Given the description of an element on the screen output the (x, y) to click on. 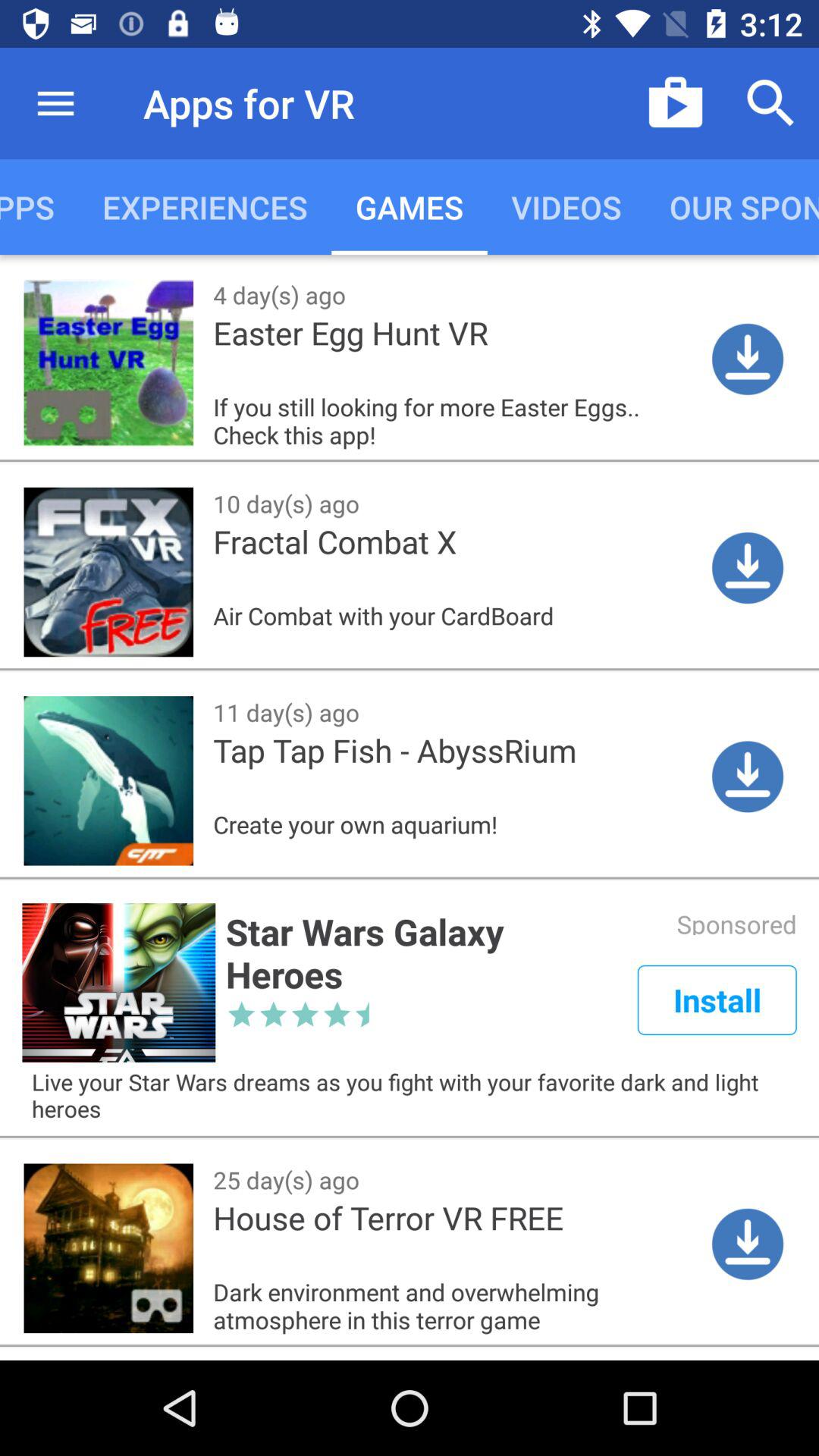
launch the app next to the star wars galaxy item (716, 1000)
